Given the description of an element on the screen output the (x, y) to click on. 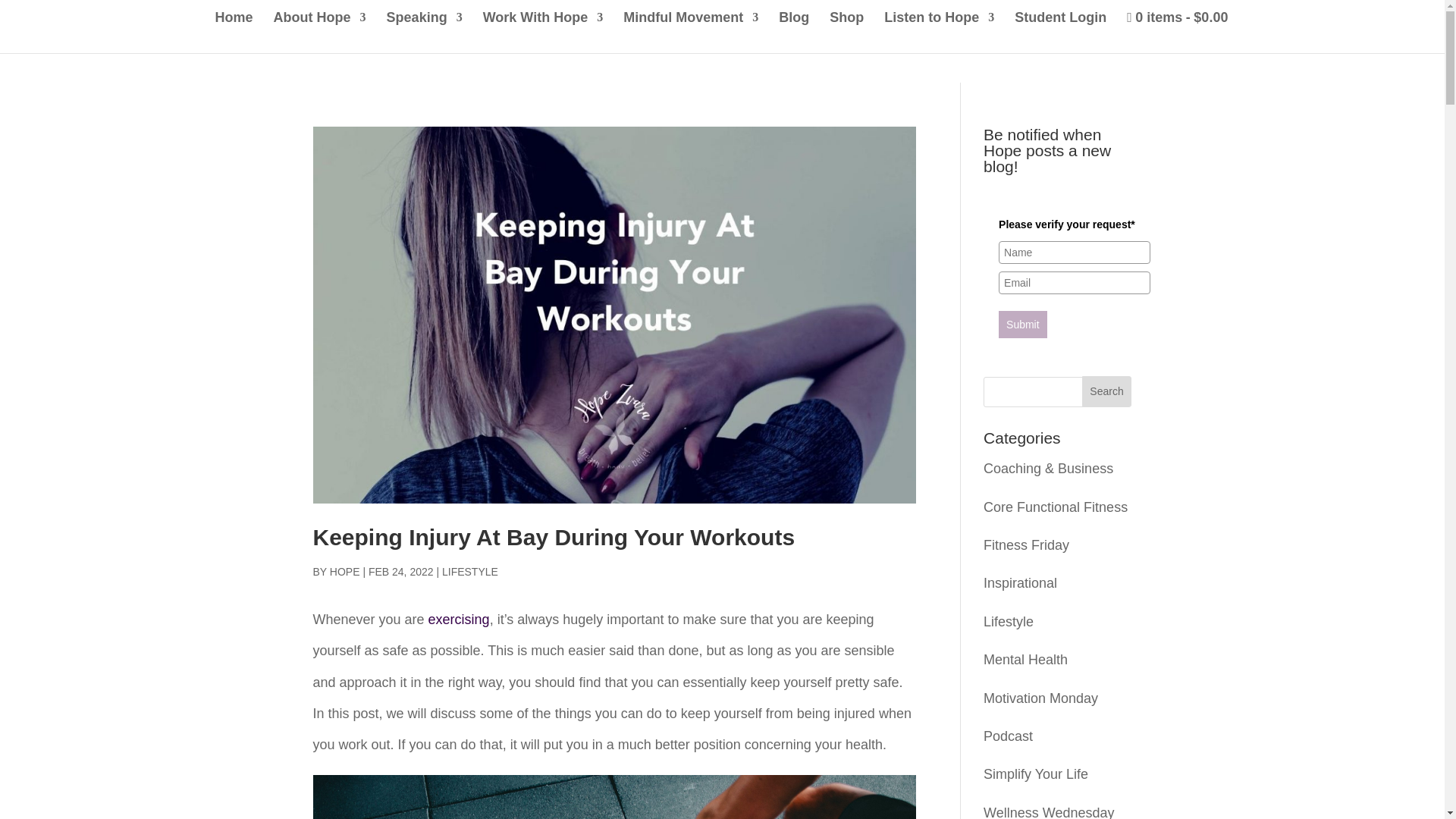
Work With Hope (543, 30)
Speaking (425, 30)
Mindful Movement (690, 30)
Search (1106, 390)
Posts by hope (344, 571)
Shop (846, 30)
Student Login (1060, 30)
About Hope (319, 30)
Home (234, 30)
Start shopping (1176, 31)
Listen to Hope (938, 30)
